Given the description of an element on the screen output the (x, y) to click on. 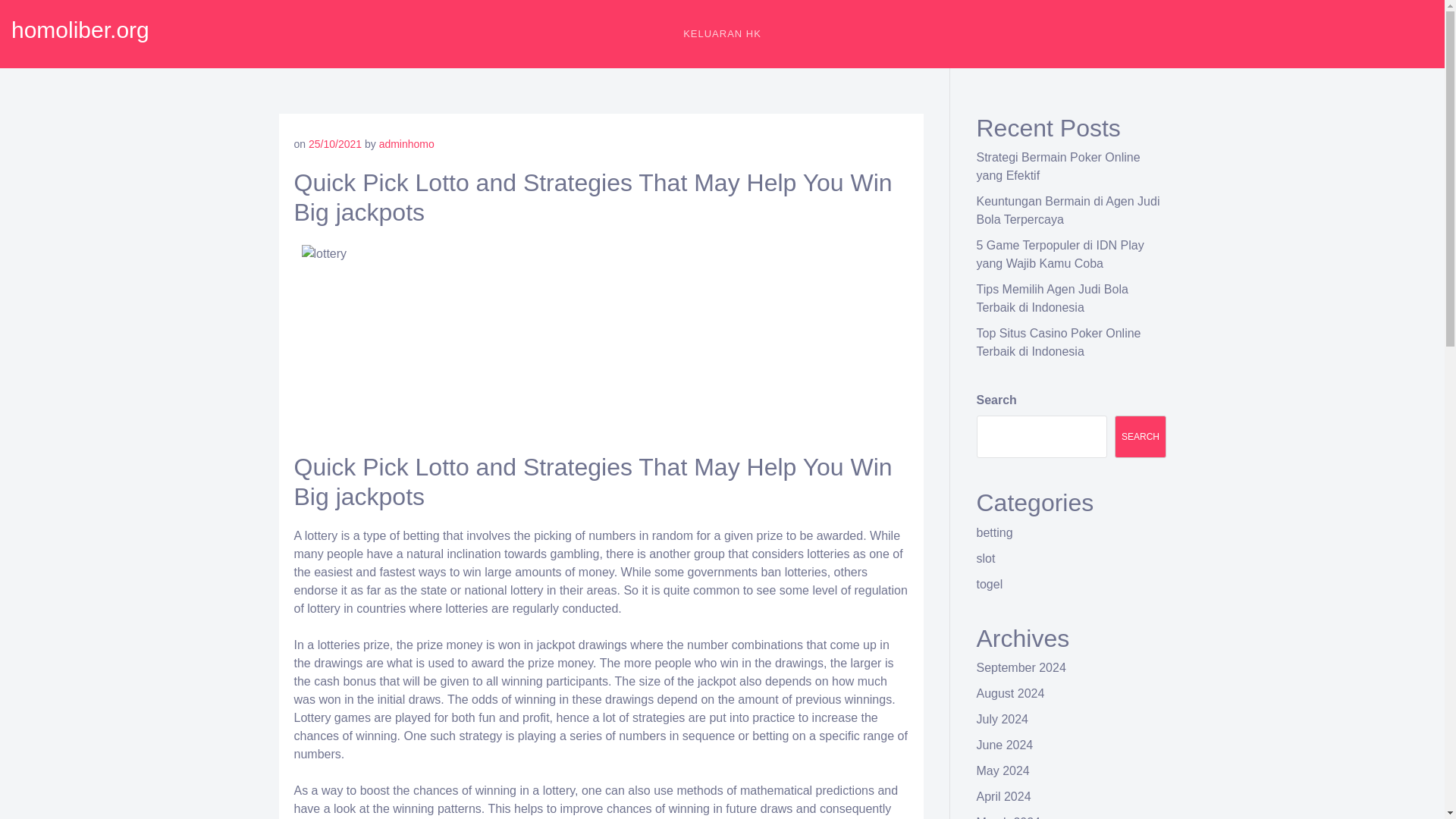
Strategi Bermain Poker Online yang Efektif (1058, 165)
August 2024 (1010, 693)
5 Game Terpopuler di IDN Play yang Wajib Kamu Coba (1060, 254)
slot (985, 558)
Keuntungan Bermain di Agen Judi Bola Terpercaya (1068, 210)
homoliber.org (80, 29)
Tips Memilih Agen Judi Bola Terbaik di Indonesia (1052, 297)
June 2024 (1004, 744)
adminhomo (405, 143)
July 2024 (1002, 718)
